Given the description of an element on the screen output the (x, y) to click on. 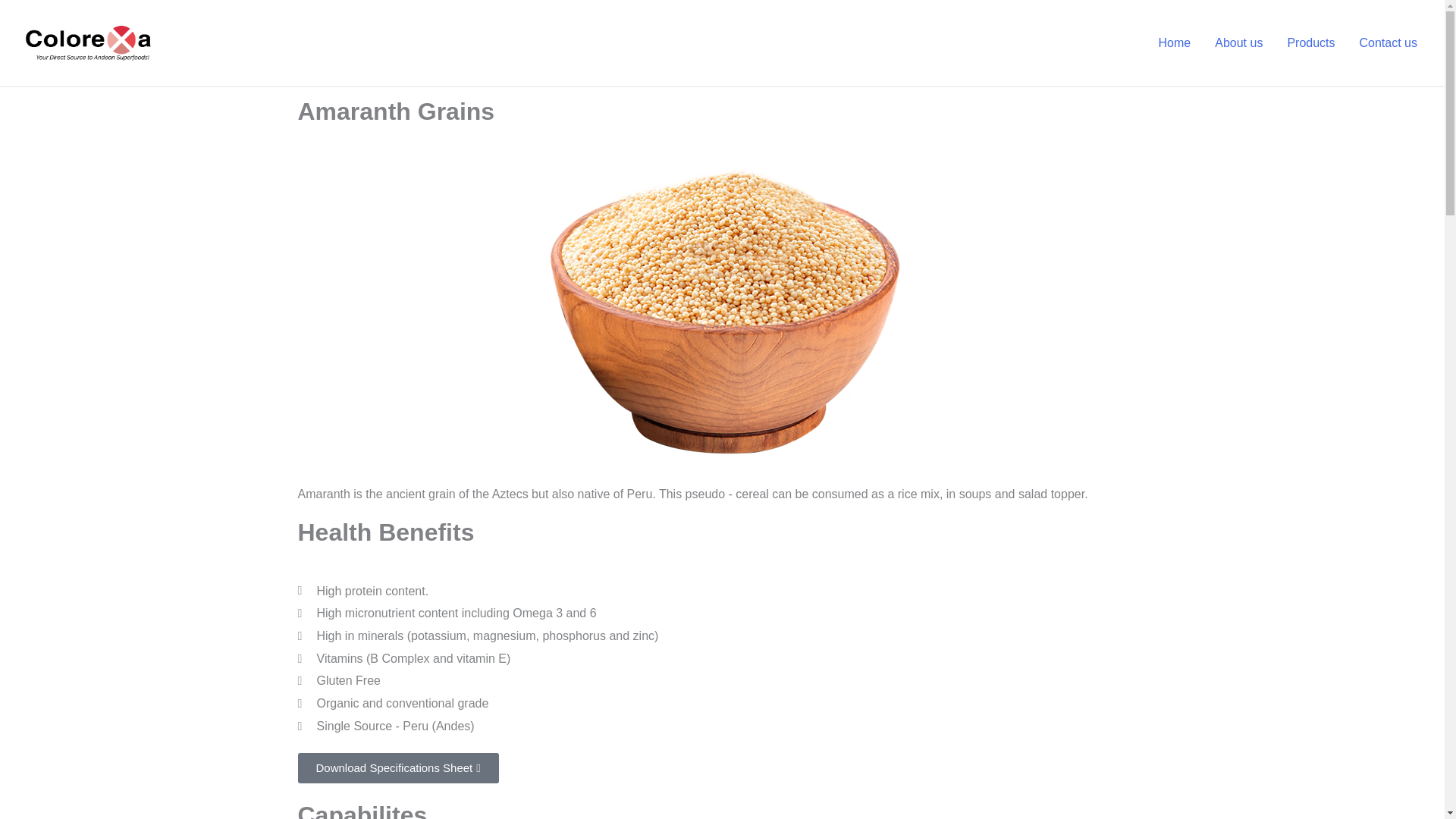
Download Specifications Sheet (397, 767)
Home (1175, 43)
Products (1310, 43)
About us (1238, 43)
Contact us (1388, 43)
